Given the description of an element on the screen output the (x, y) to click on. 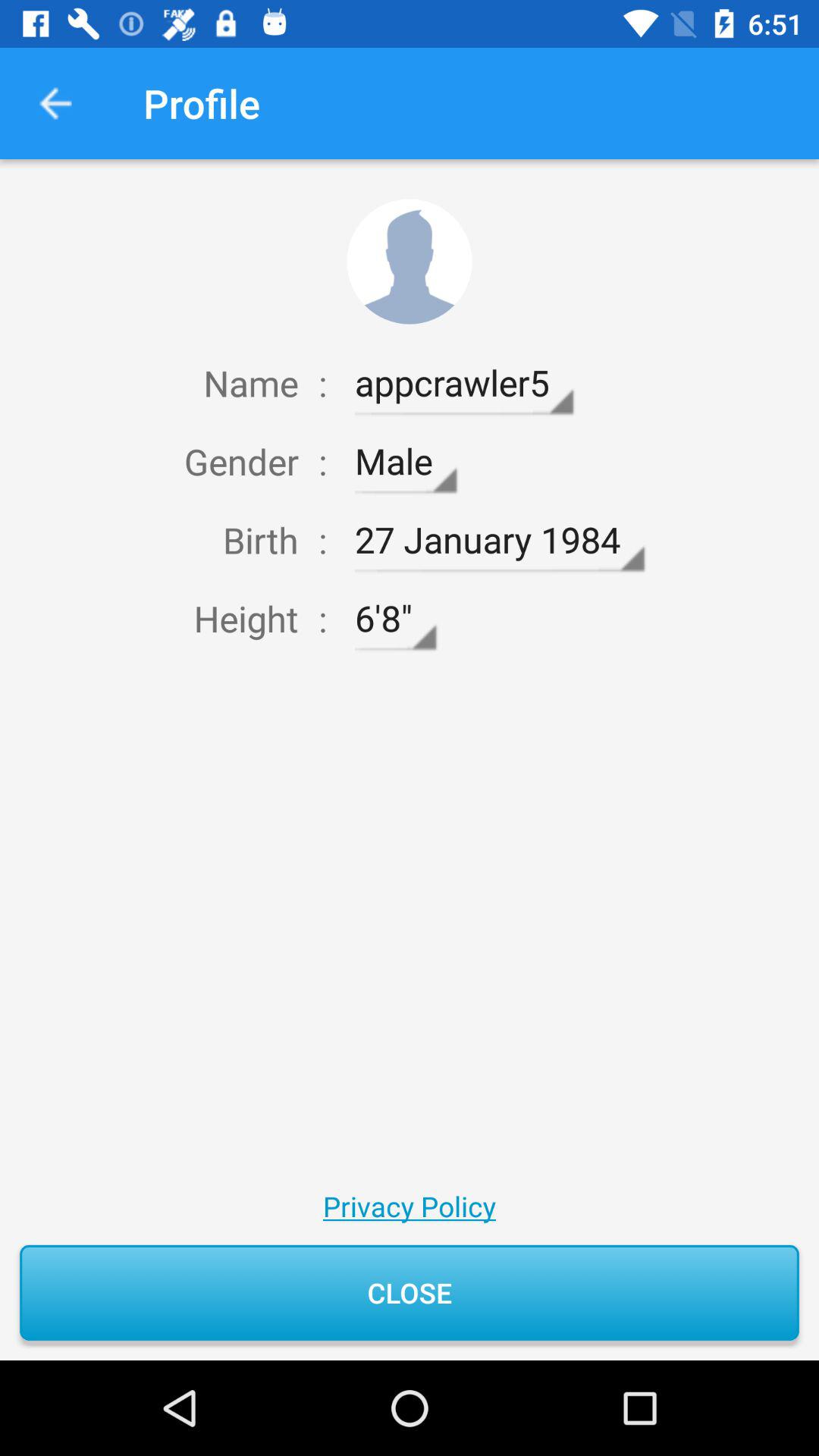
turn off the item to the right of : (463, 383)
